Given the description of an element on the screen output the (x, y) to click on. 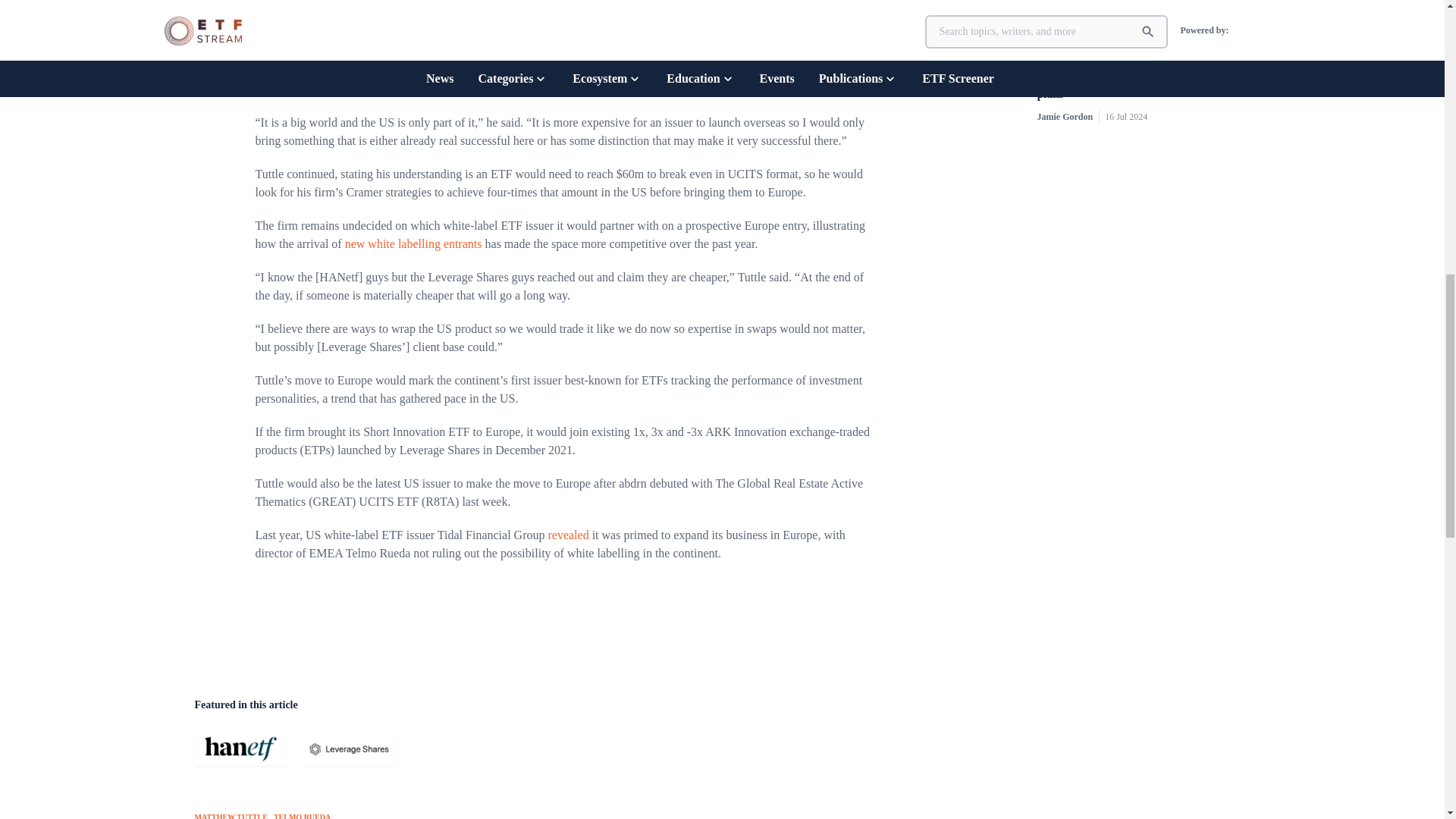
MATTHEW TUTTLE (229, 812)
new white labelling entrants (413, 243)
TELMO RUEDA (301, 812)
revealed (567, 534)
